Given the description of an element on the screen output the (x, y) to click on. 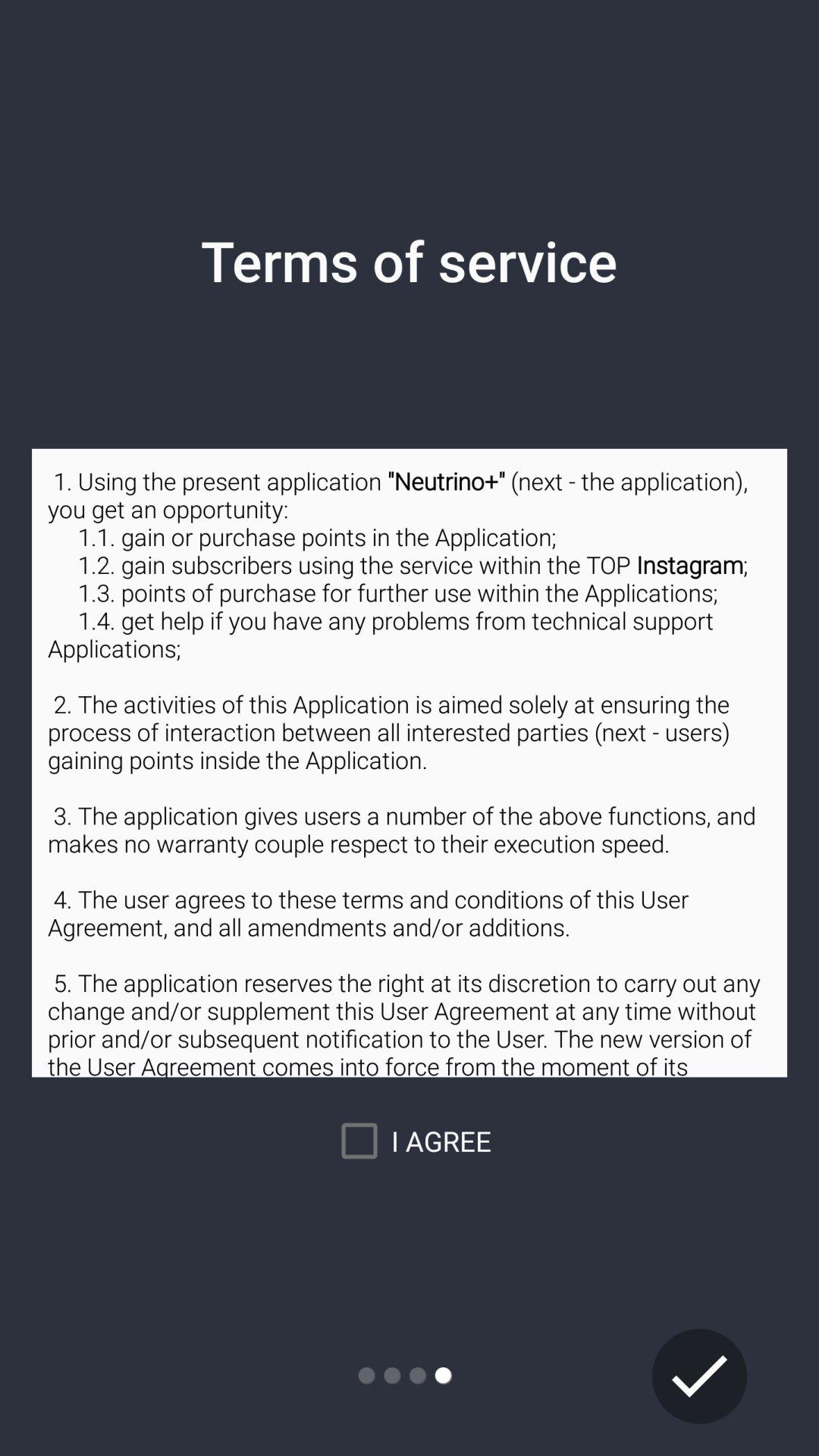
jump until i agree item (409, 1140)
